Given the description of an element on the screen output the (x, y) to click on. 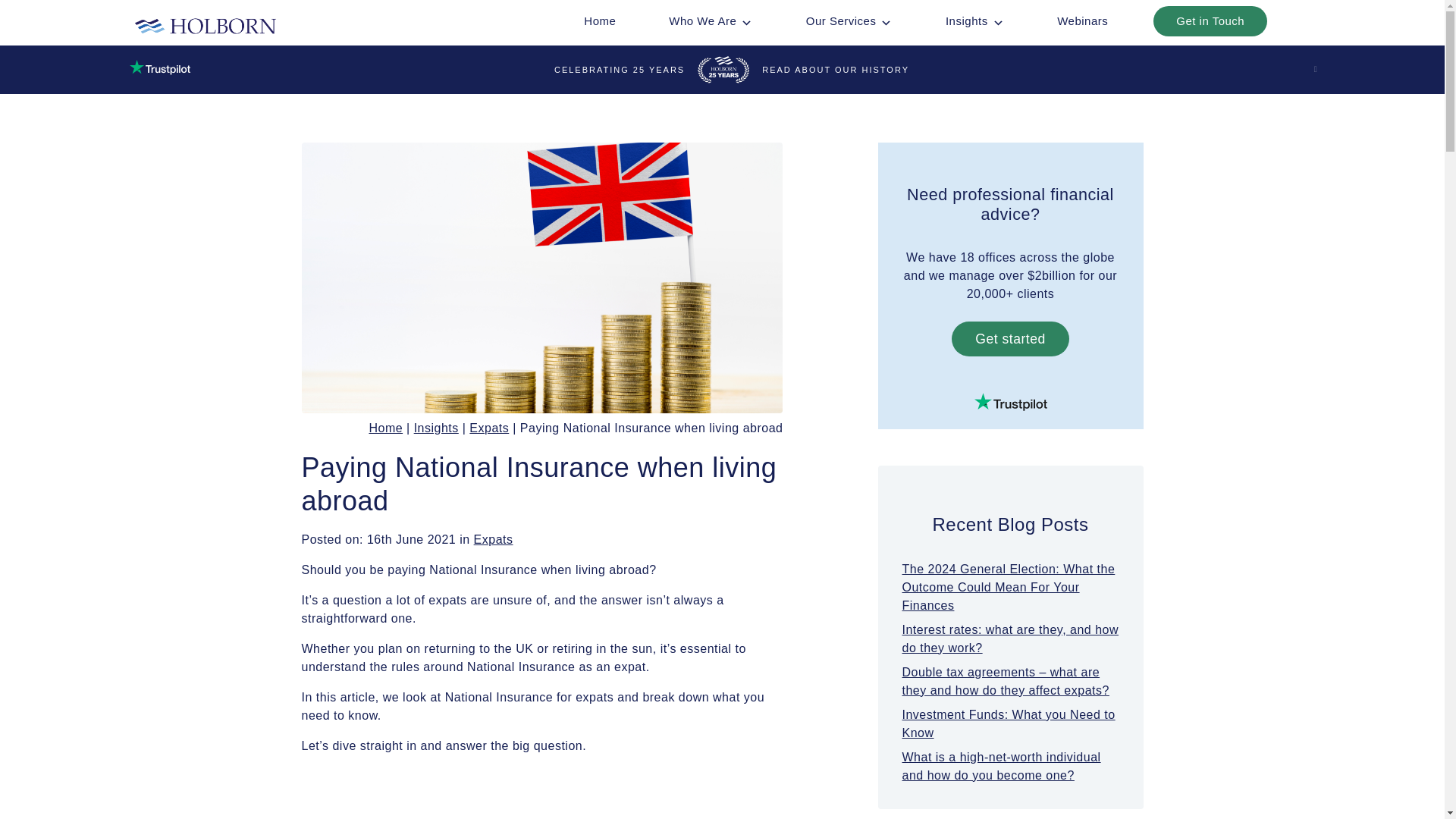
Our Services (848, 20)
Customer reviews powered by Trustpilot (1010, 402)
Home (599, 20)
View all (493, 539)
Insights (974, 20)
Who We Are (710, 20)
